Given the description of an element on the screen output the (x, y) to click on. 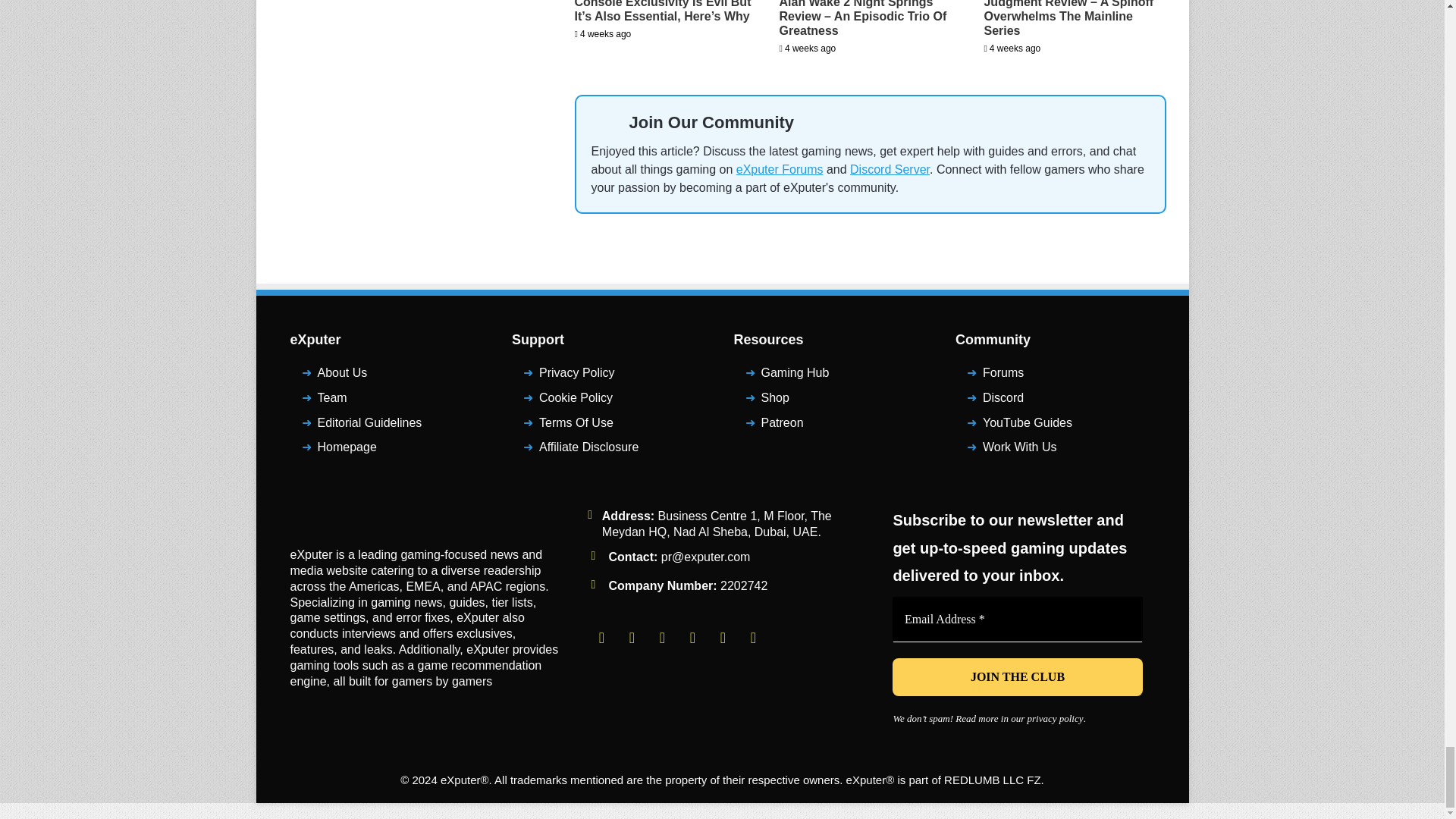
Email Address (1017, 619)
JOIN THE  CLUB (1017, 677)
